Given the description of an element on the screen output the (x, y) to click on. 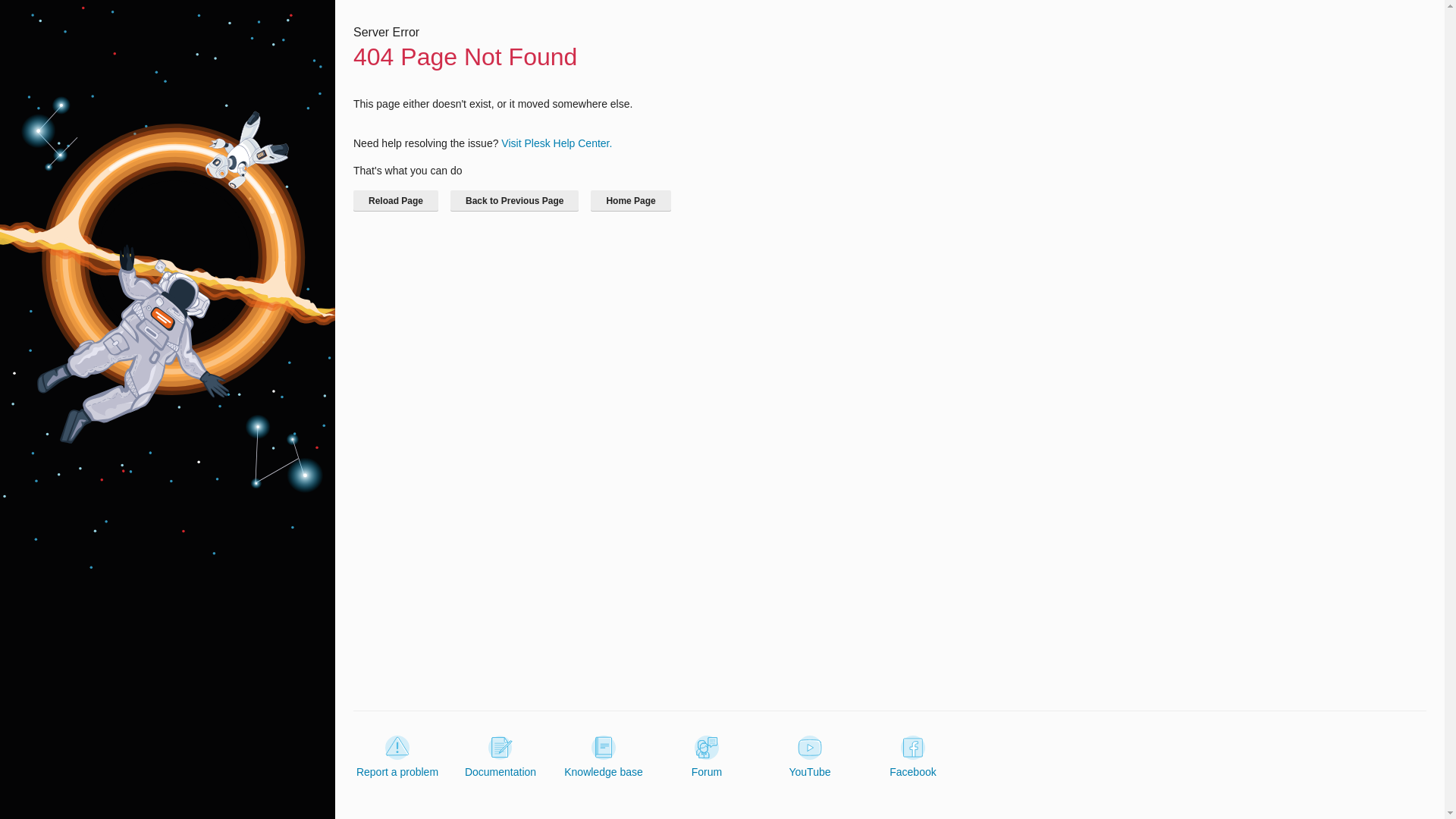
Reload Page (395, 200)
Forum (706, 757)
Back to Previous Page (513, 200)
Home Page (630, 200)
Report a problem (397, 757)
Visit Plesk Help Center. (555, 143)
Knowledge base (603, 757)
Facebook (912, 757)
YouTube (809, 757)
Documentation (500, 757)
